Given the description of an element on the screen output the (x, y) to click on. 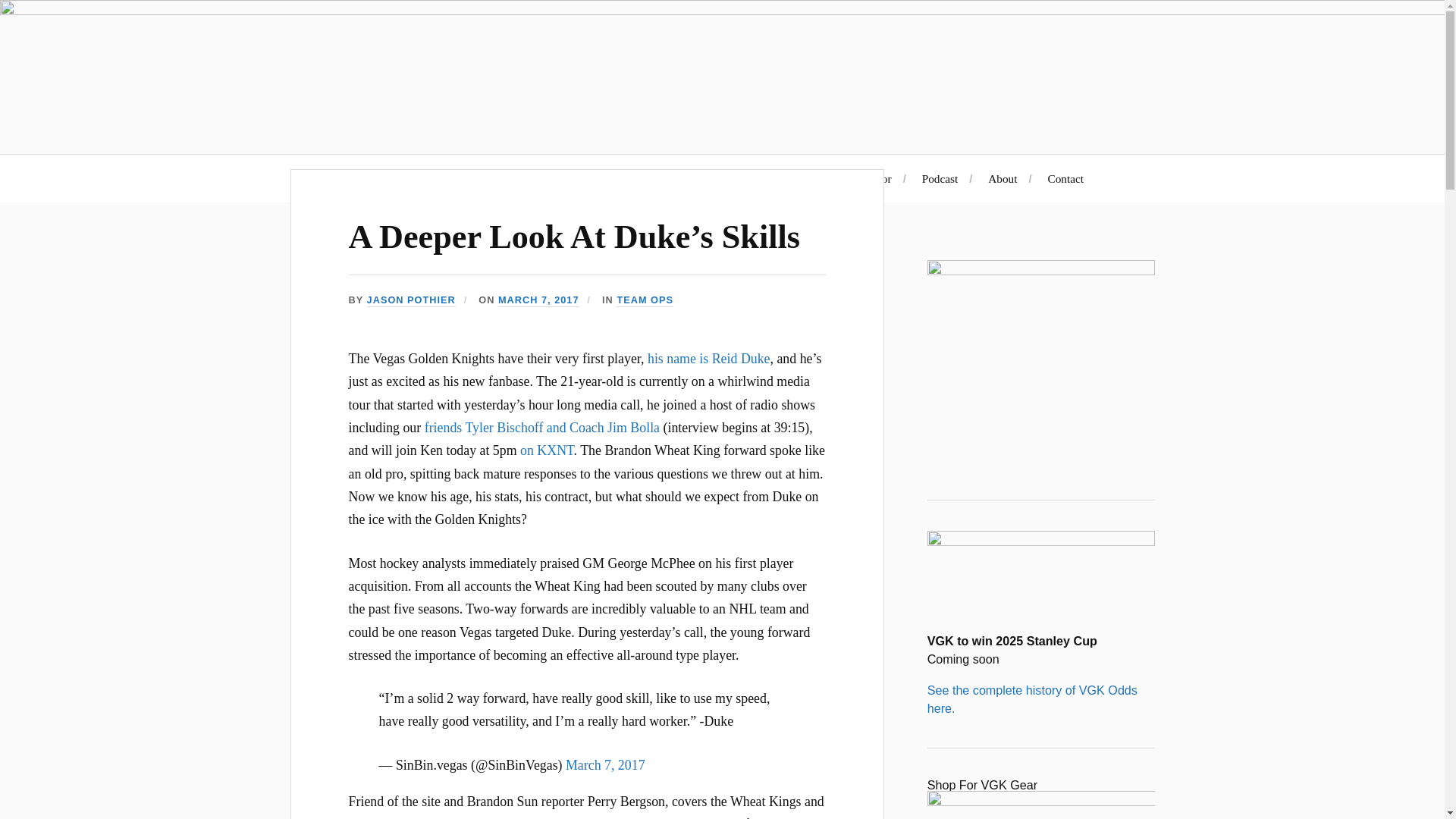
JASON POTHIER (410, 300)
Posts by Jason Pothier (410, 300)
MARCH 7, 2017 (538, 300)
The Creator (863, 178)
on KXNT (546, 450)
Prospects (783, 178)
Inscriptagraphs Memorabilia (662, 178)
his name is Reid Duke (708, 358)
friends Tyler Bischoff and Coach Jim Bolla (542, 427)
March 7, 2017 (605, 765)
